Given the description of an element on the screen output the (x, y) to click on. 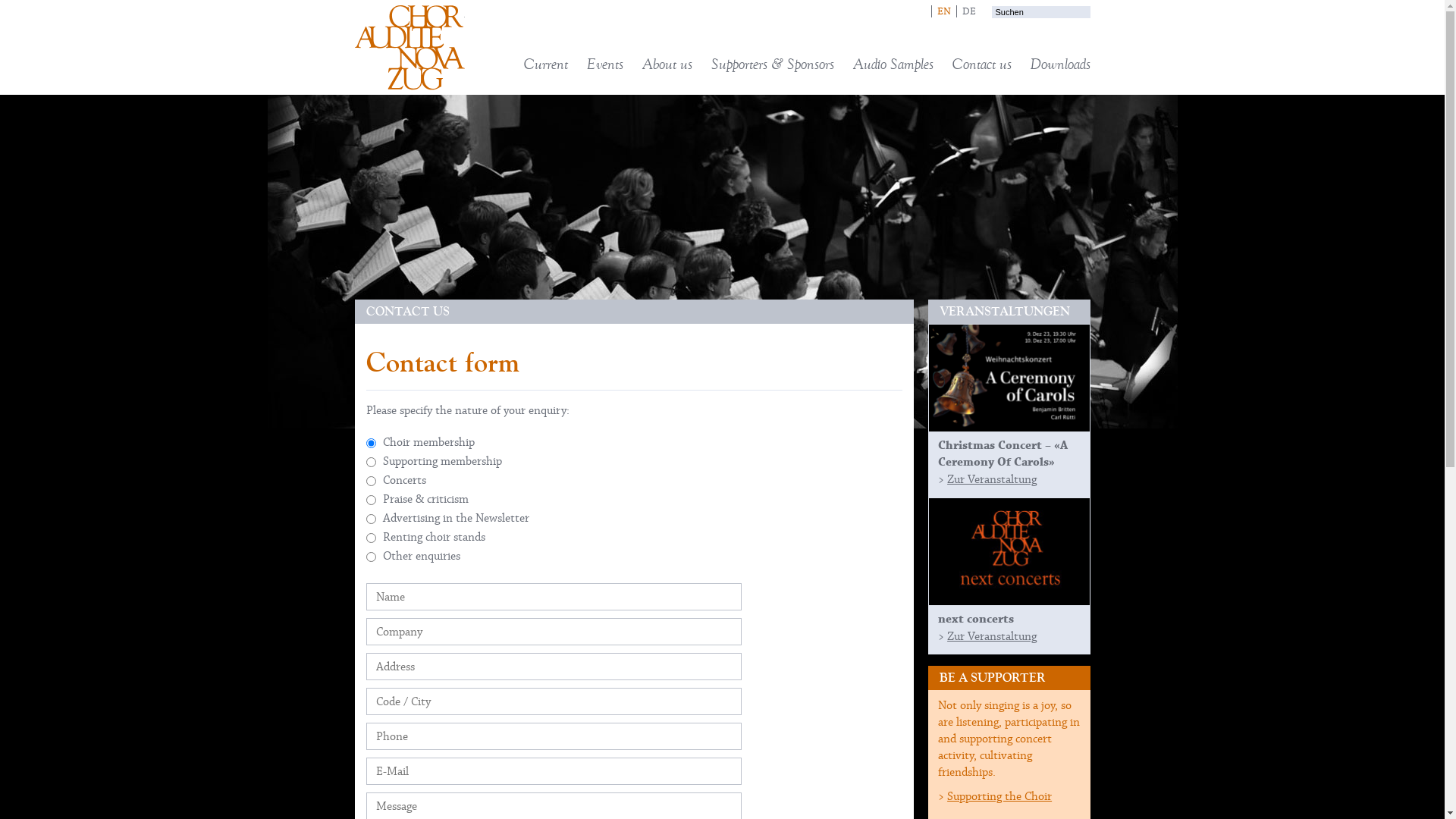
Downloads Element type: text (1059, 63)
Events Element type: text (604, 63)
Zur Veranstaltung Element type: text (991, 636)
Find Element type: text (1036, 26)
About us Element type: text (666, 63)
Zur Veranstaltung Element type: text (991, 479)
Chor Audite Nova Element type: text (409, 47)
Audio Samples Element type: text (892, 63)
Supporting the Choir Element type: text (999, 796)
Current Element type: text (545, 63)
Supporters & Sponsors Element type: text (772, 63)
DE Element type: text (968, 11)
Contact us Element type: text (981, 63)
